Given the description of an element on the screen output the (x, y) to click on. 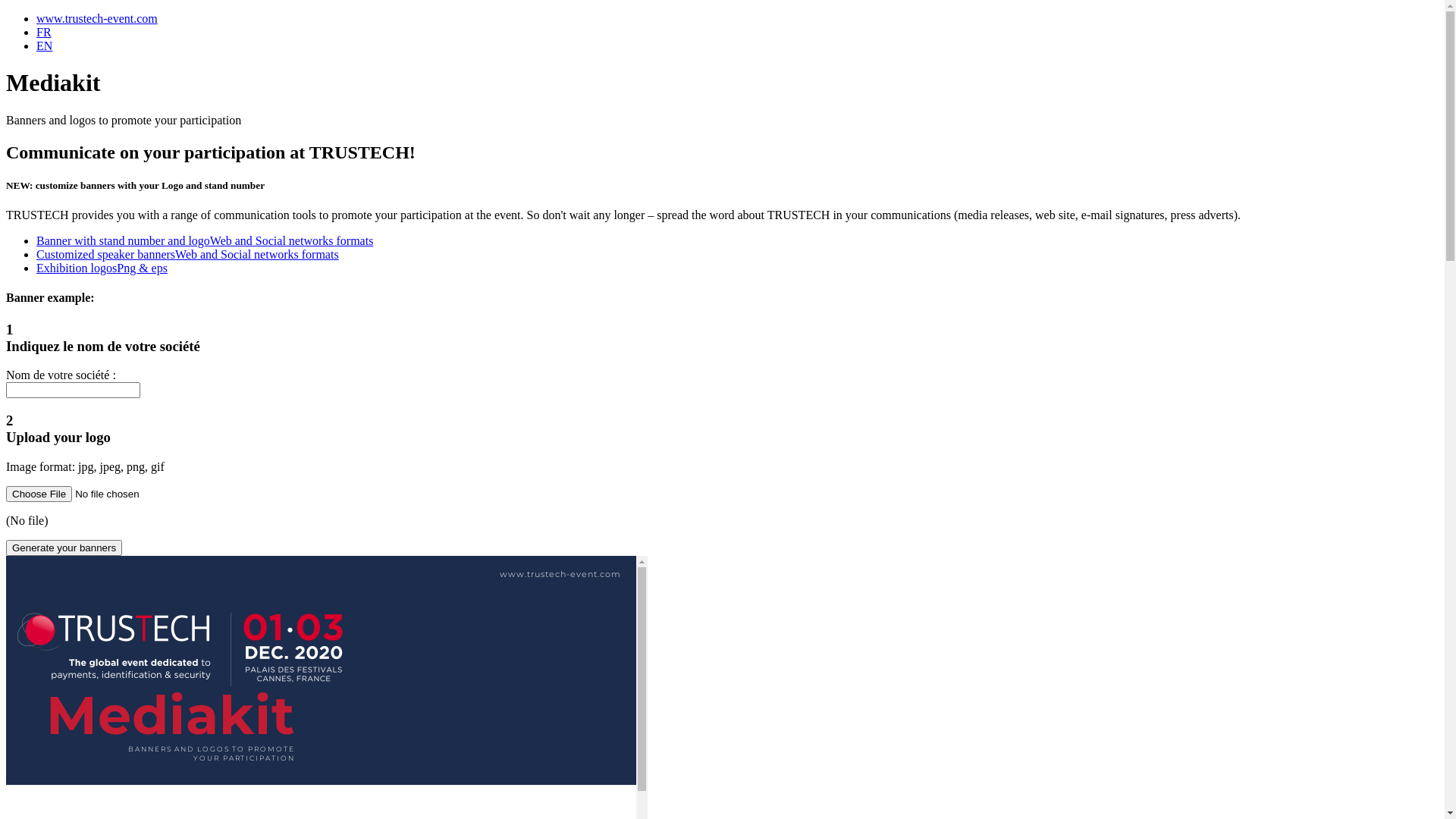
EN Element type: text (44, 45)
www.trustech-event.com Element type: text (96, 18)
Customized speaker bannersWeb and Social networks formats Element type: text (187, 253)
Exhibition logosPng & eps Element type: text (101, 267)
FR Element type: text (43, 31)
Generate your banners Element type: text (64, 547)
